Given the description of an element on the screen output the (x, y) to click on. 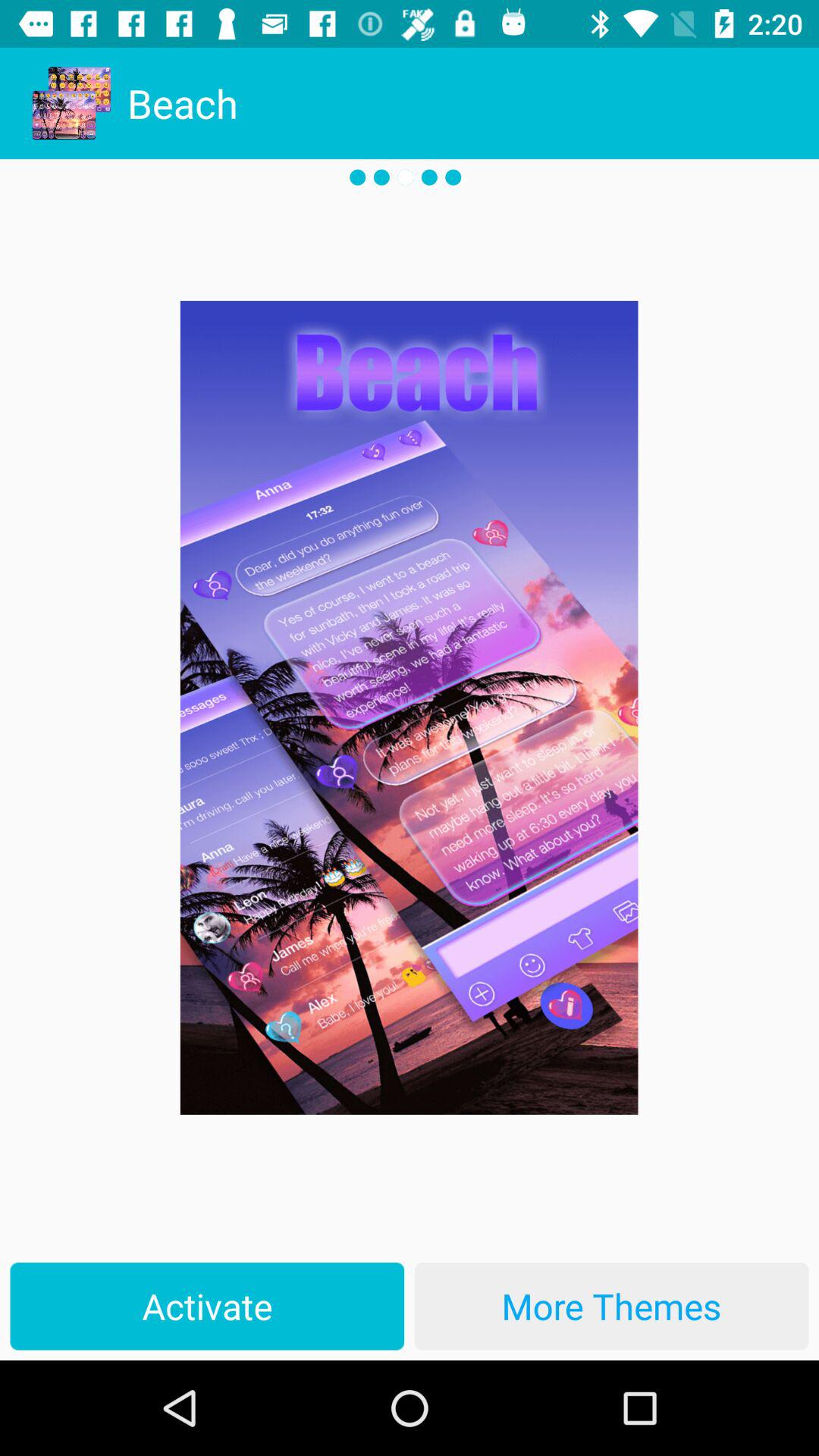
swipe until more themes (611, 1306)
